Given the description of an element on the screen output the (x, y) to click on. 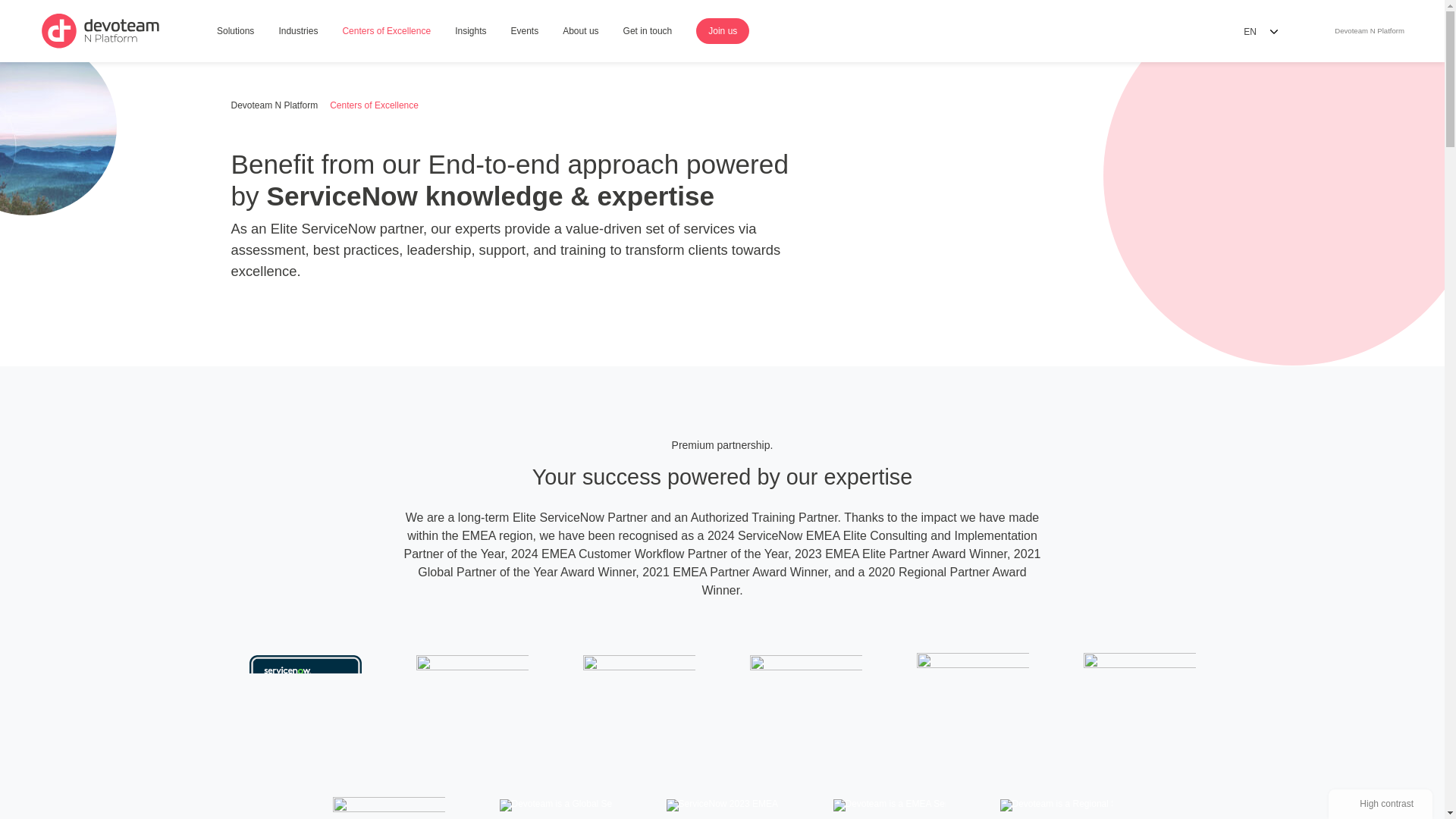
About us (580, 31)
Insights (469, 31)
Get in touch (647, 31)
Devoteam N Platform (273, 104)
Go to Devoteam N Platform. (273, 104)
Join us (722, 31)
Solutions (235, 31)
Centers of Excellence (386, 31)
EN (1260, 31)
Events (1366, 31)
Industries (525, 31)
